Given the description of an element on the screen output the (x, y) to click on. 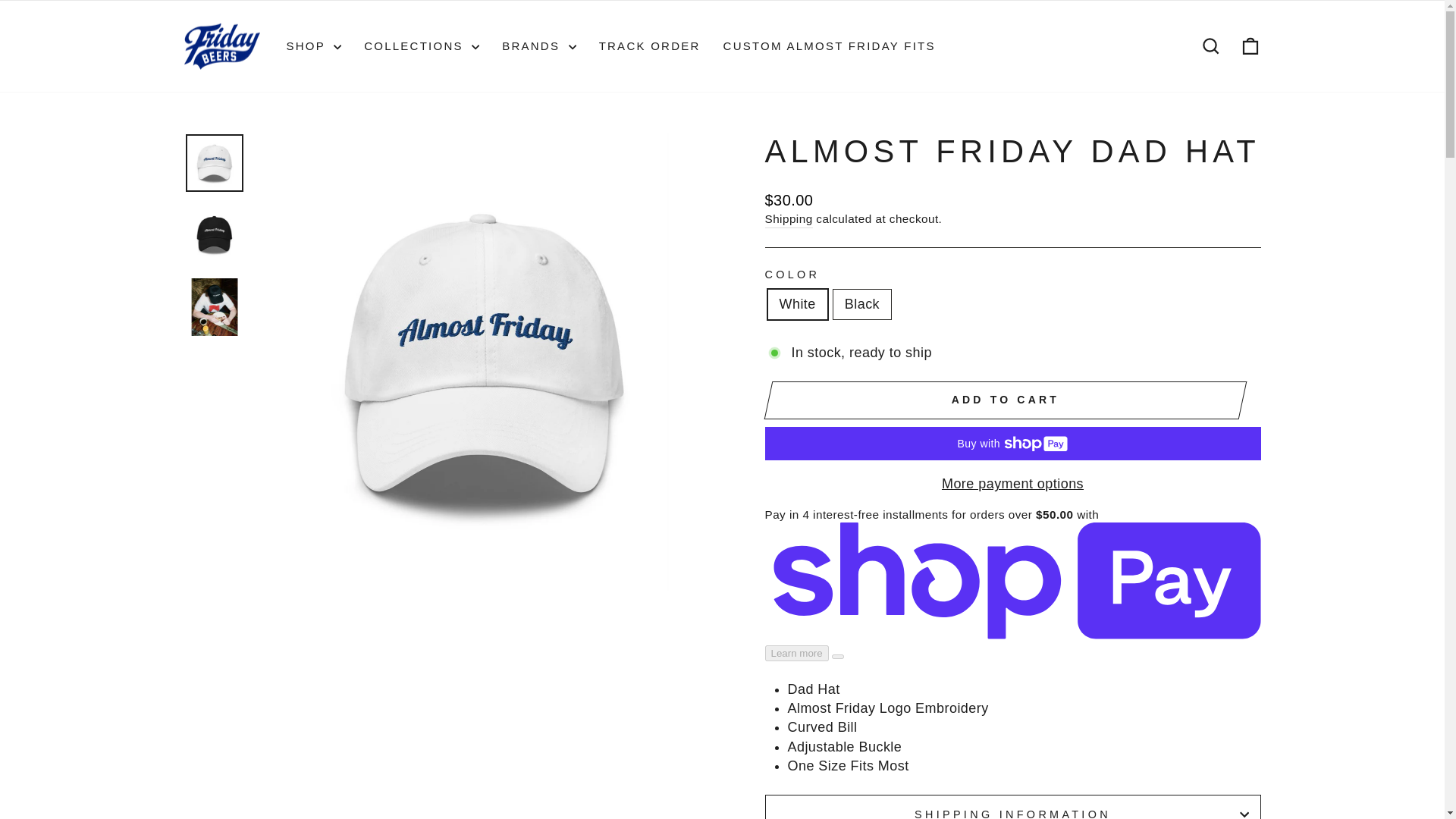
ICON-BAG-MINIMAL (1249, 46)
ICON-SEARCH (1210, 46)
